Given the description of an element on the screen output the (x, y) to click on. 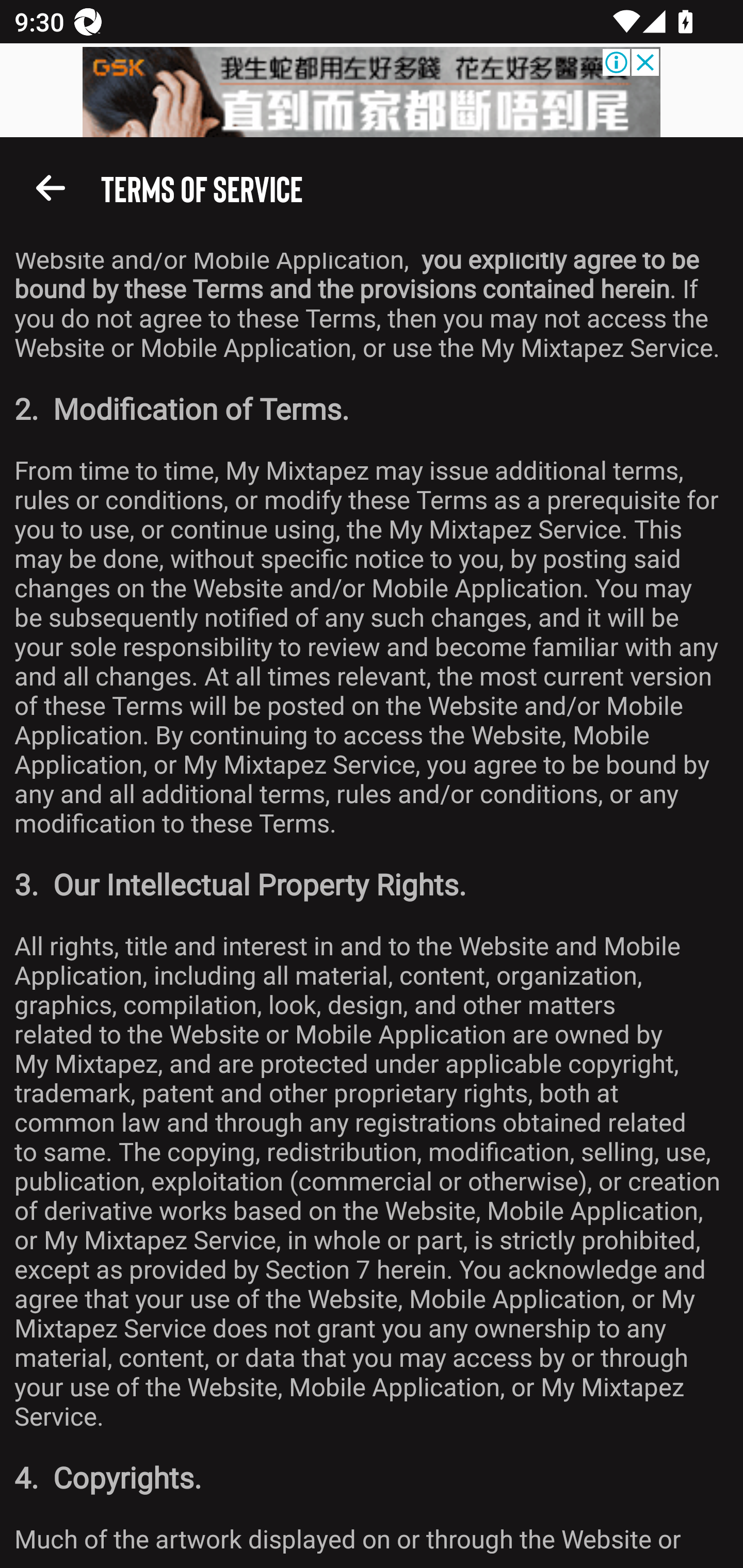
Advertisement (371, 92)
